Given the description of an element on the screen output the (x, y) to click on. 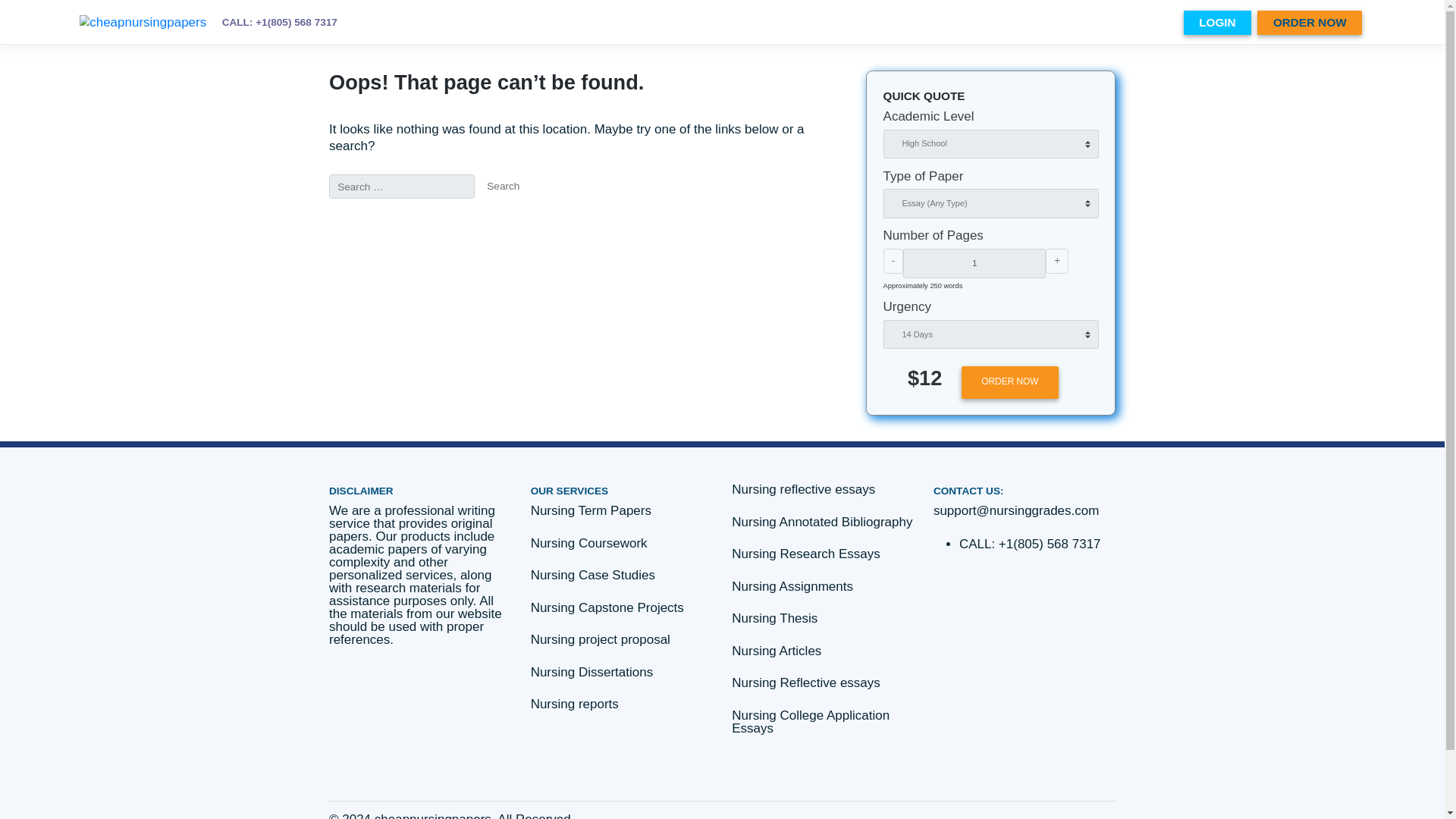
1 (1146, 309)
ABOUT US (1241, 26)
PRICES (1171, 26)
Search (591, 218)
LOGIN (1426, 26)
SERVICES (1319, 26)
Search for: (473, 218)
Search (591, 218)
SERVICES (1319, 26)
PRICES (1171, 26)
ABOUT US (1241, 26)
LOGIN (1426, 26)
Search (591, 218)
ORDER NOW (1188, 449)
